Given the description of an element on the screen output the (x, y) to click on. 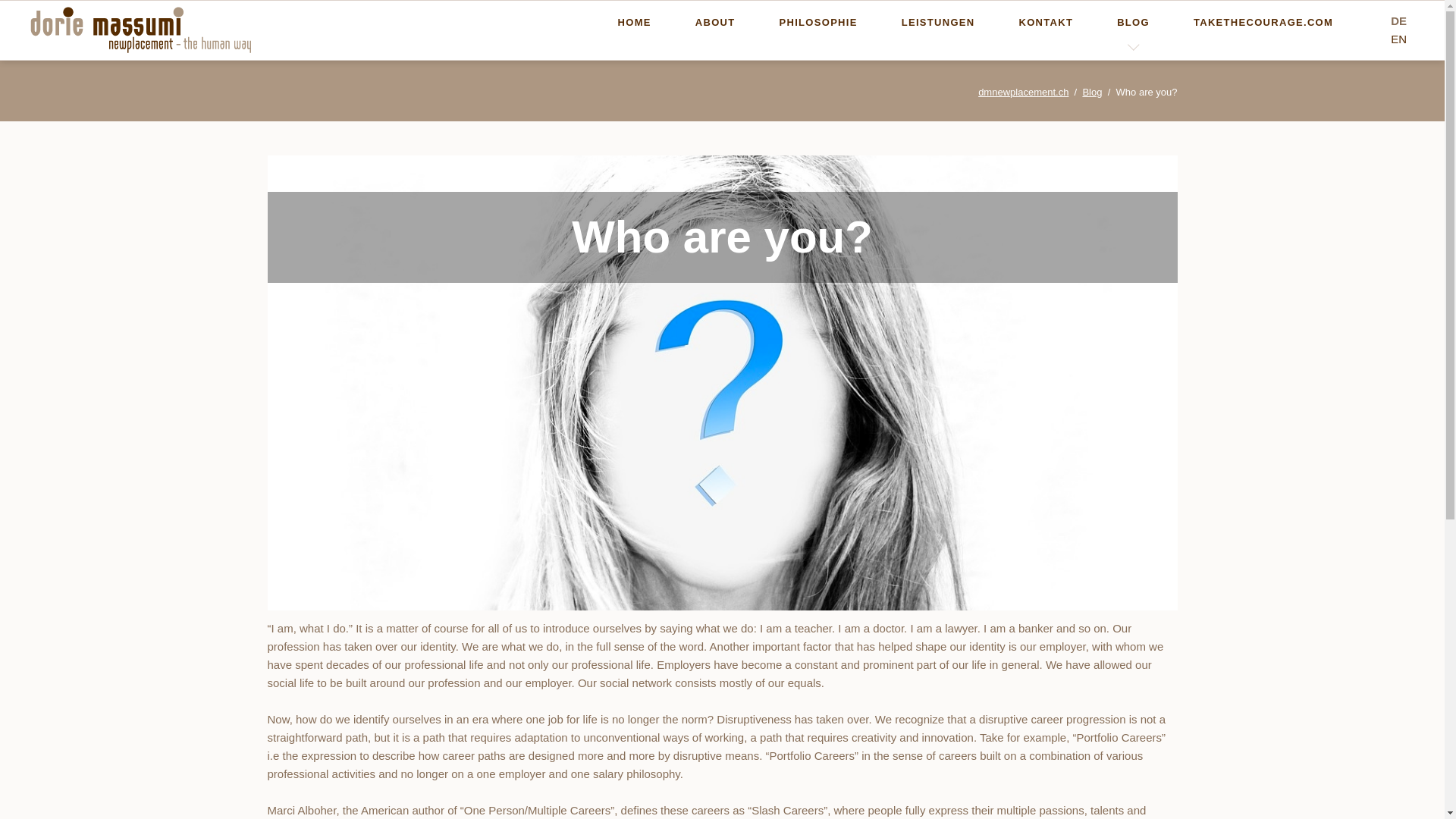
LEISTUNGEN (938, 21)
HOME (634, 21)
ABOUT (714, 21)
PHILOSOPHIE (817, 21)
About (714, 21)
Philosophie (817, 21)
EN (1398, 38)
News Details (1398, 38)
Dorie Massumi Newplacement (634, 21)
